Given the description of an element on the screen output the (x, y) to click on. 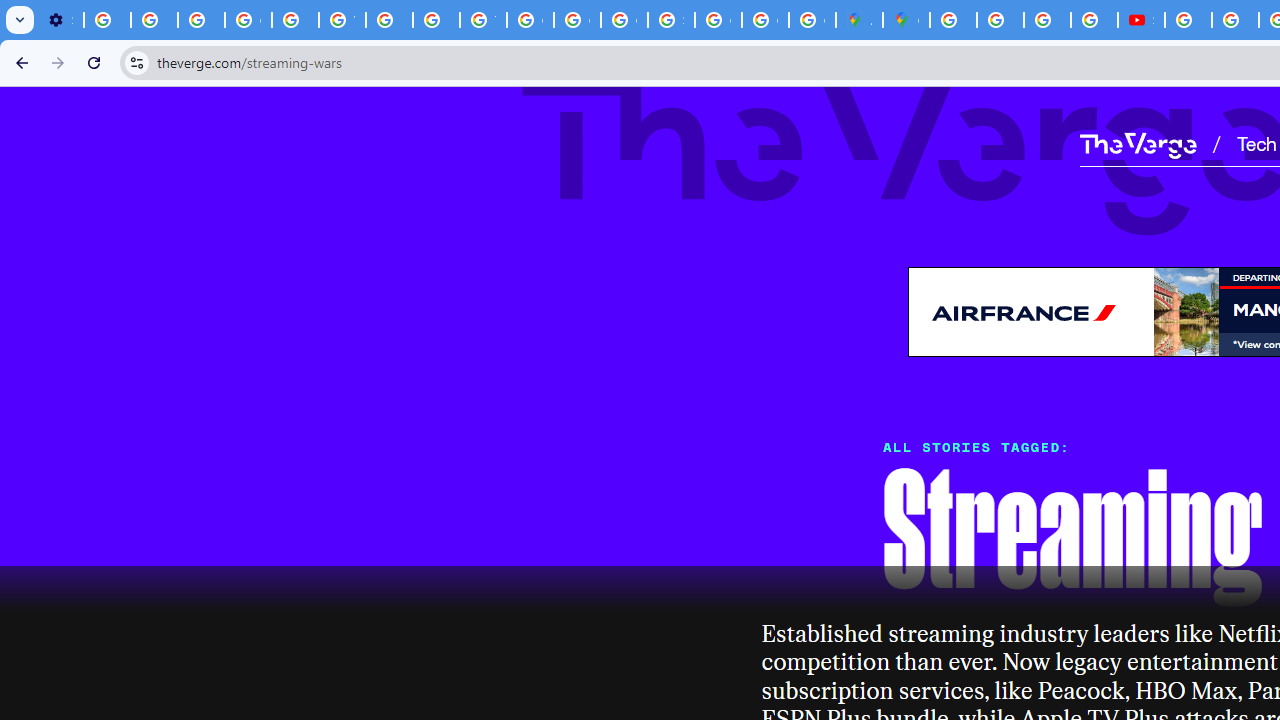
The Verge (1137, 145)
Subscriptions - YouTube (1140, 20)
Blogger Policies and Guidelines - Transparency Center (953, 20)
Settings - Customize profile (60, 20)
